Given the description of an element on the screen output the (x, y) to click on. 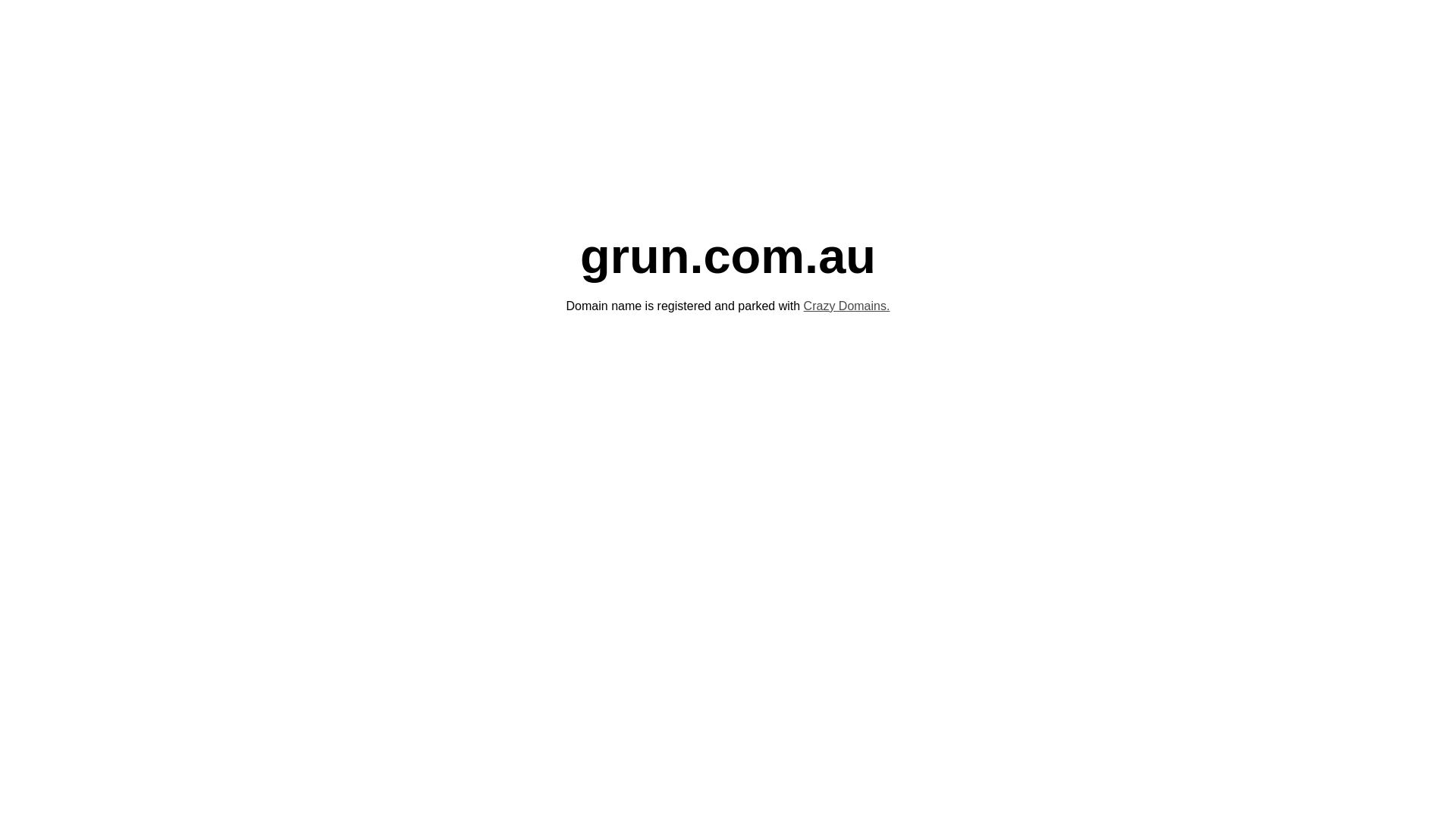
Crazy Domains. Element type: text (846, 305)
